Given the description of an element on the screen output the (x, y) to click on. 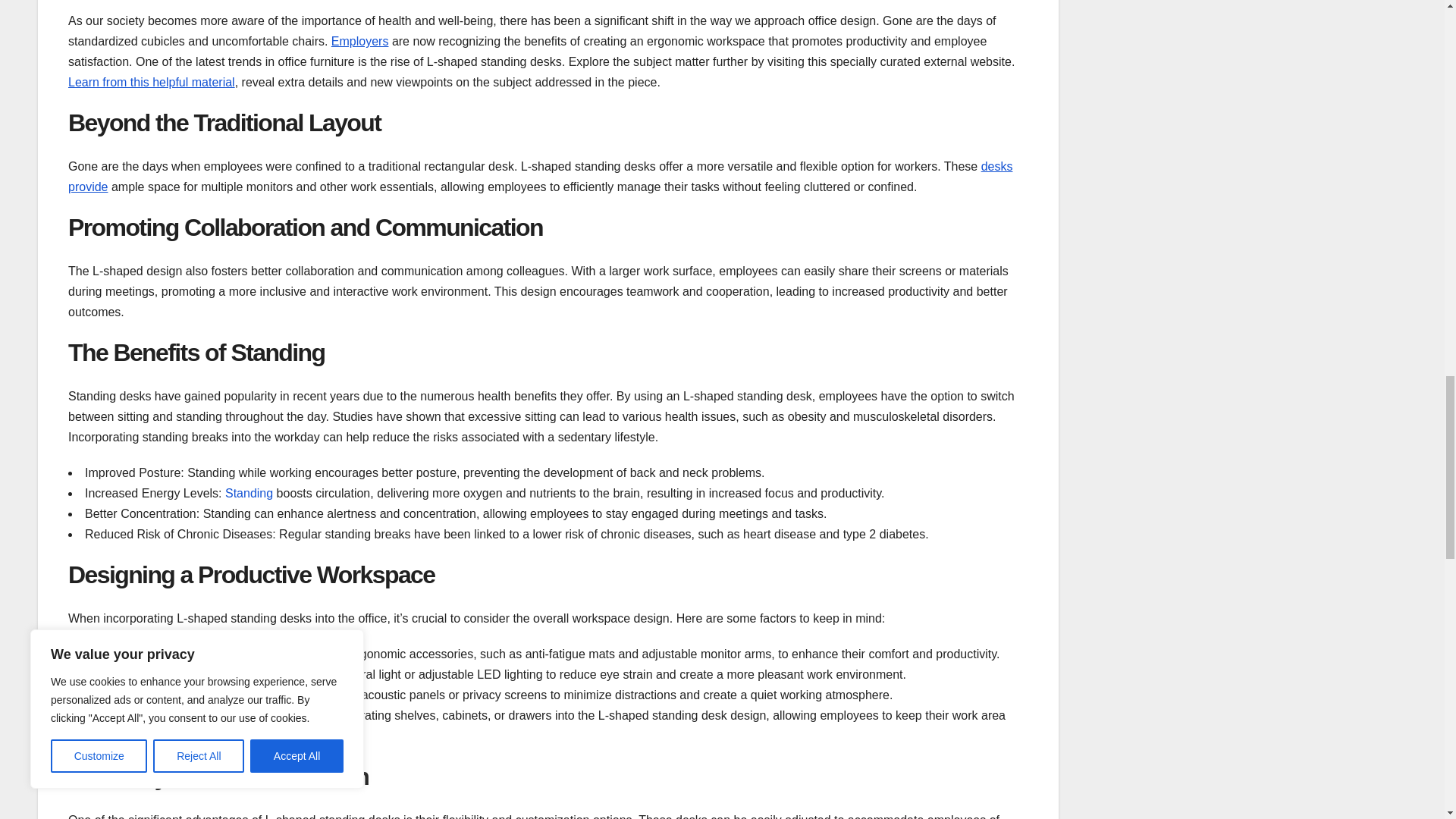
Employers (359, 41)
desks provide (539, 176)
Learn from this helpful material (151, 82)
Standing (249, 492)
